Given the description of an element on the screen output the (x, y) to click on. 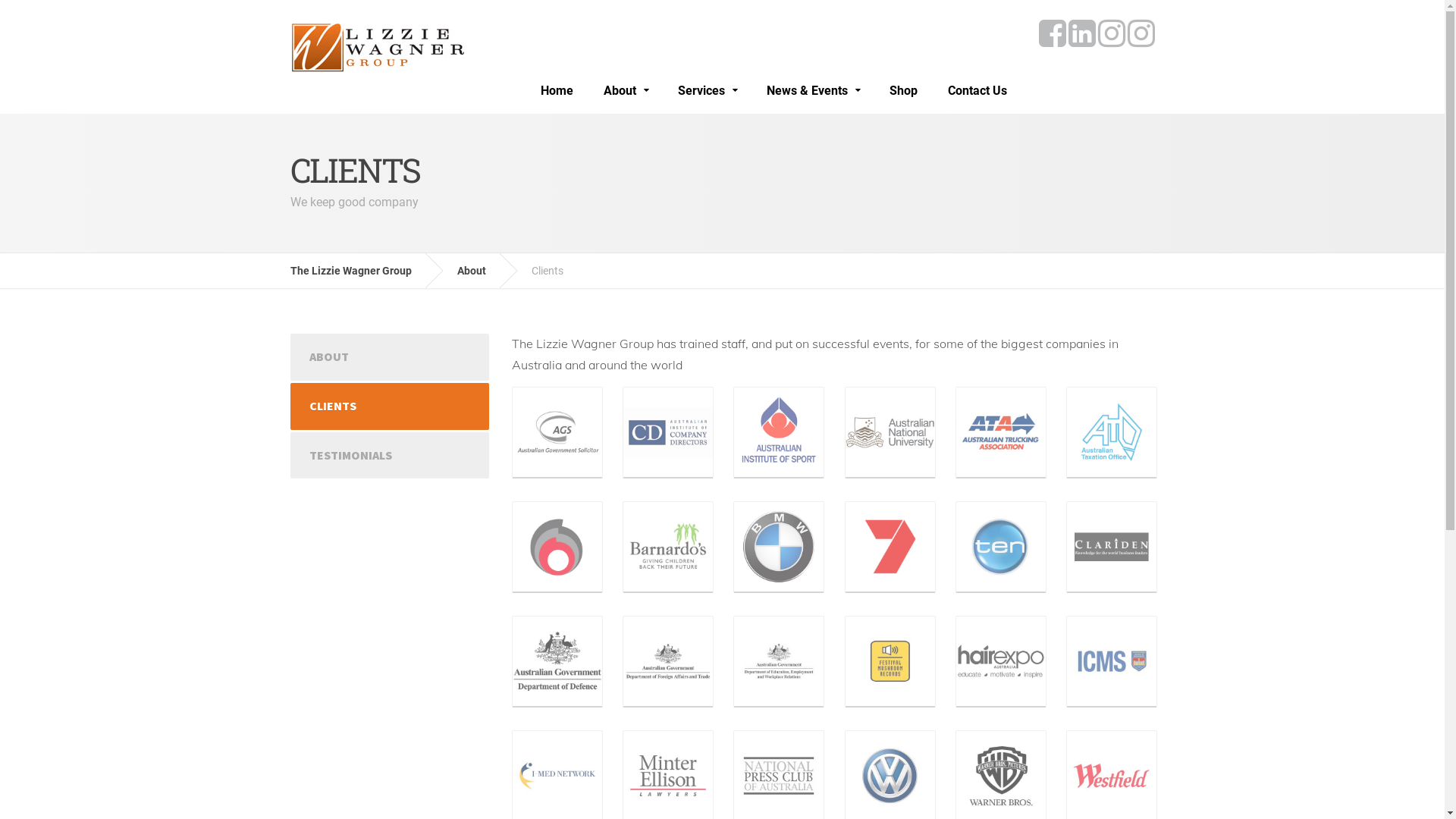
LinkedIn Element type: hover (1081, 32)
ABOUT Element type: text (389, 356)
Contact Us Element type: text (977, 90)
Instagram Lizzie Wagner Element type: hover (1111, 32)
The Lizzie Wagner Group Element type: text (361, 270)
CLIENTS Element type: text (389, 405)
Instagram LW Group Element type: hover (1140, 32)
About Element type: text (482, 270)
Shop Element type: text (902, 90)
News & Events Element type: text (811, 90)
Home Element type: text (555, 90)
Facebook Element type: hover (1052, 32)
Services Element type: text (706, 90)
About Element type: text (625, 90)
TESTIMONIALS Element type: text (389, 455)
